Given the description of an element on the screen output the (x, y) to click on. 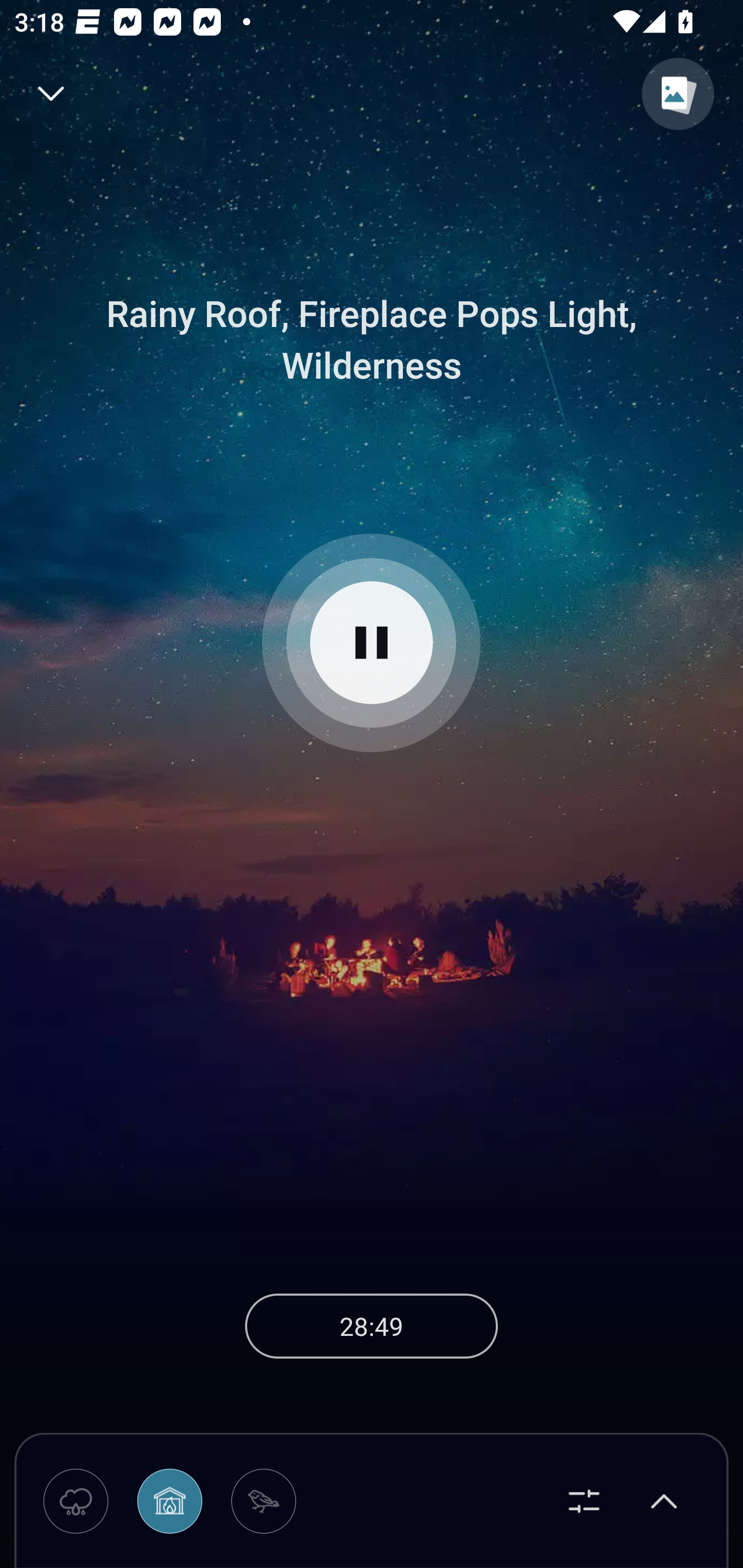
28:49 (371, 1325)
